Given the description of an element on the screen output the (x, y) to click on. 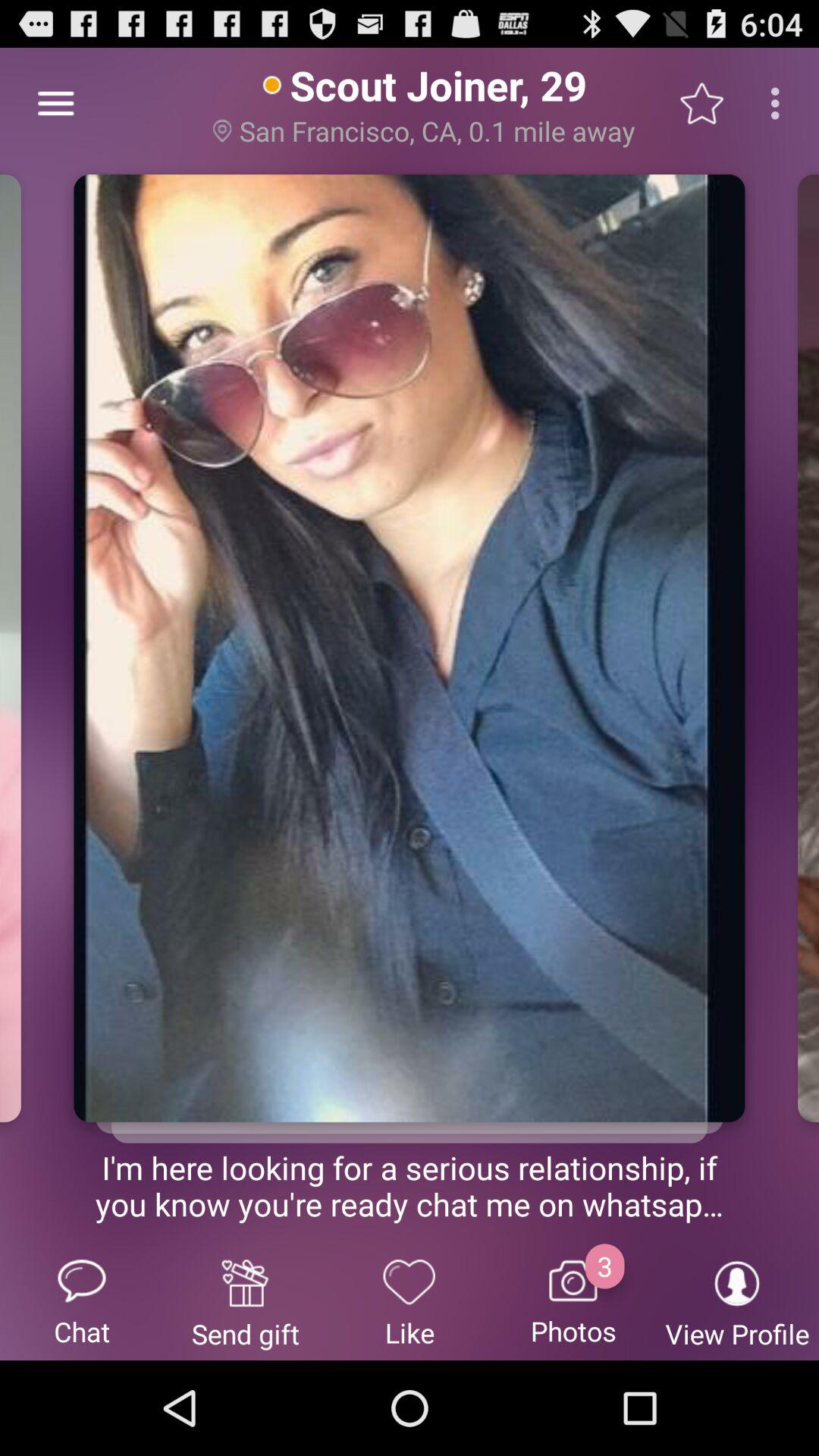
click on three vertical dots on the top right of the web page (779, 103)
click on the second option from the left bottom of the page (245, 1301)
select the image left to view profile at right corner bottom of the page (573, 1301)
improper tagging (409, 1111)
click on the like with heart symbol (409, 1301)
